Given the description of an element on the screen output the (x, y) to click on. 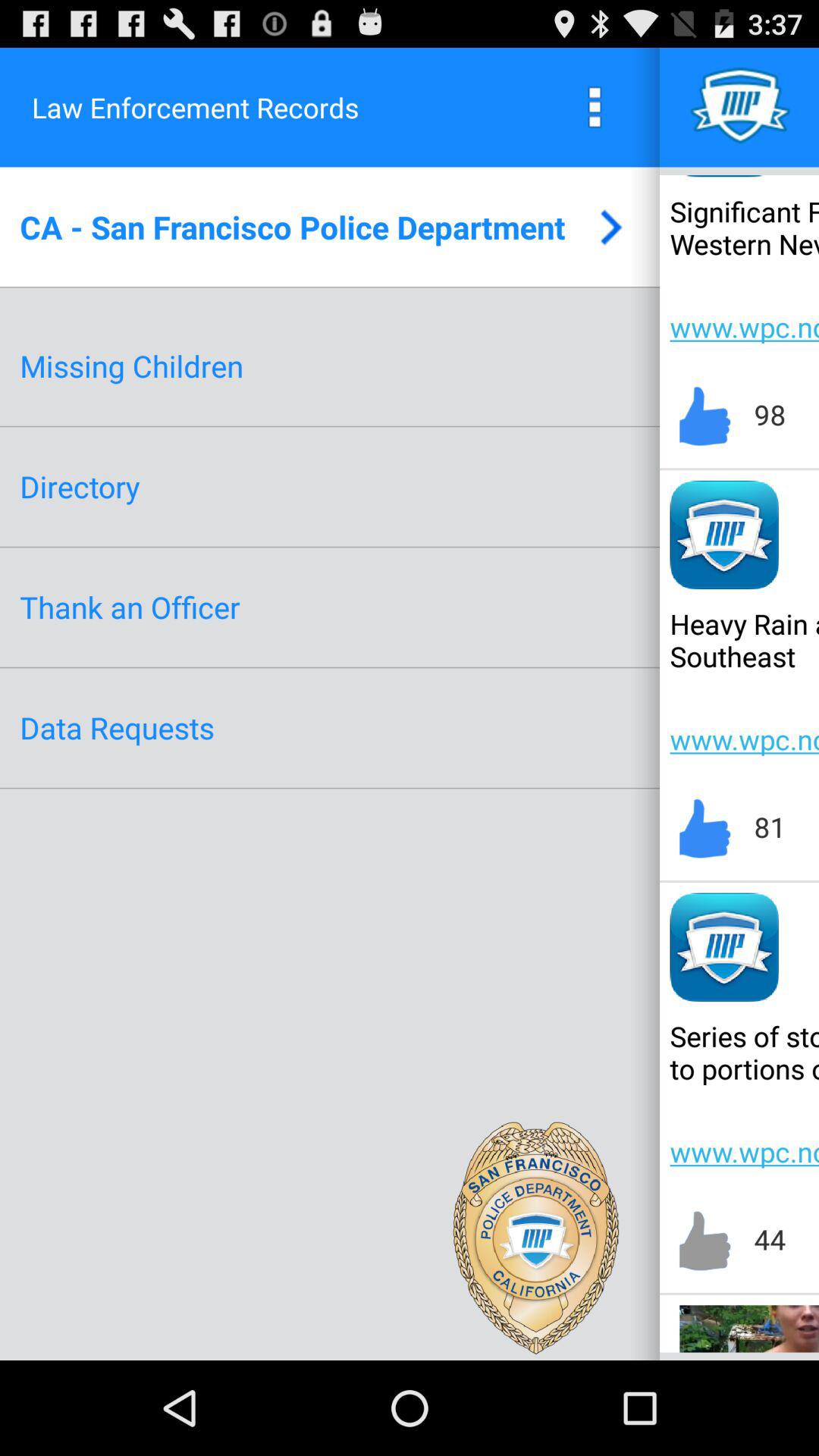
choose the thank an officer (129, 606)
